Given the description of an element on the screen output the (x, y) to click on. 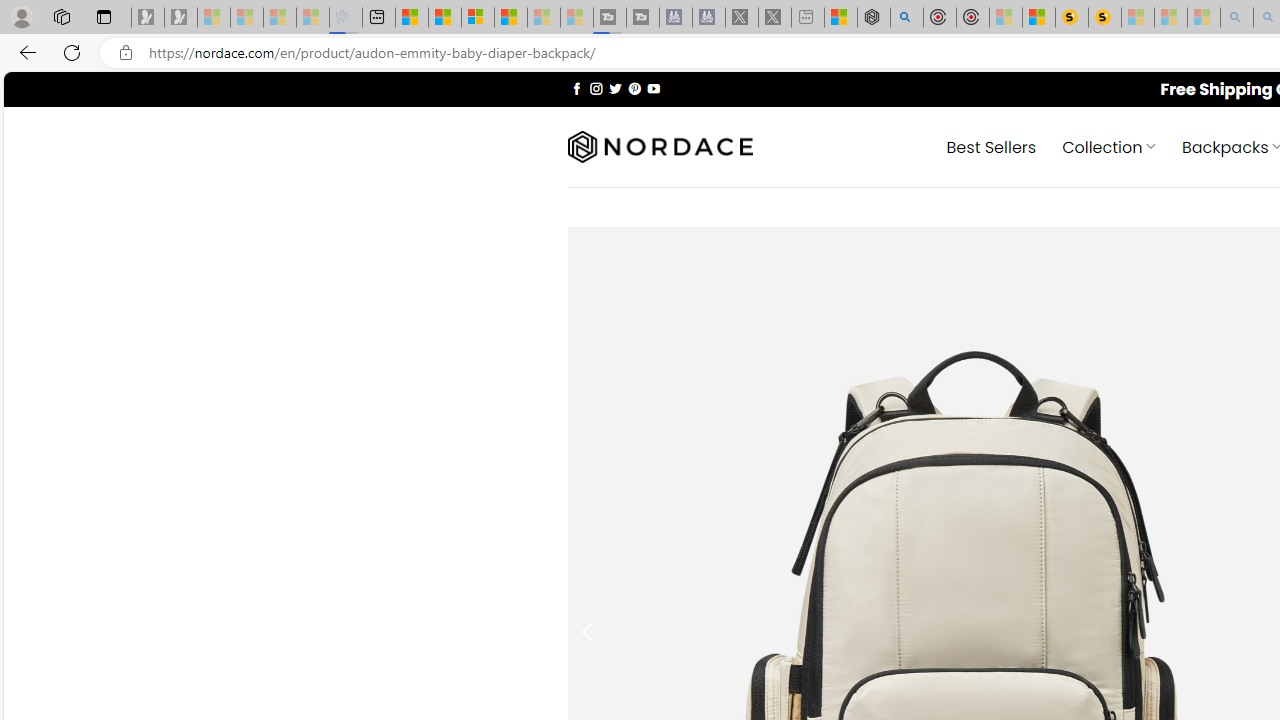
Newsletter Sign Up - Sleeping (181, 17)
Follow on YouTube (653, 88)
Follow on Twitter (615, 88)
